Given the description of an element on the screen output the (x, y) to click on. 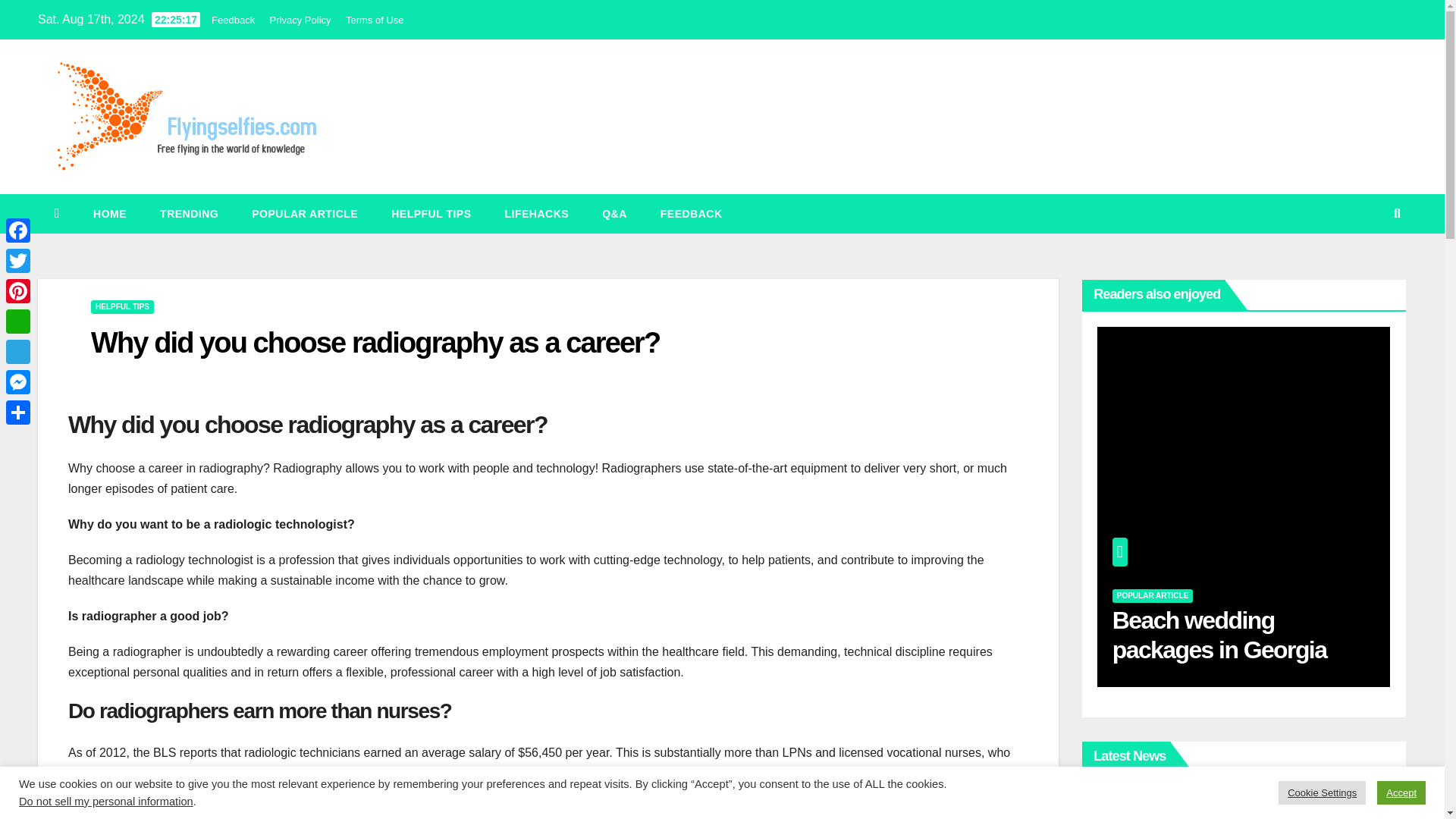
HOME (109, 213)
POPULAR ARTICLE (1152, 595)
Popular article (304, 213)
TRENDING (188, 213)
Feedback (232, 19)
Why did you choose radiography as a career? (374, 342)
Privacy Policy (300, 19)
Helpful tips (430, 213)
FEEDBACK (691, 213)
Beach wedding packages in Georgia (1219, 634)
